Given the description of an element on the screen output the (x, y) to click on. 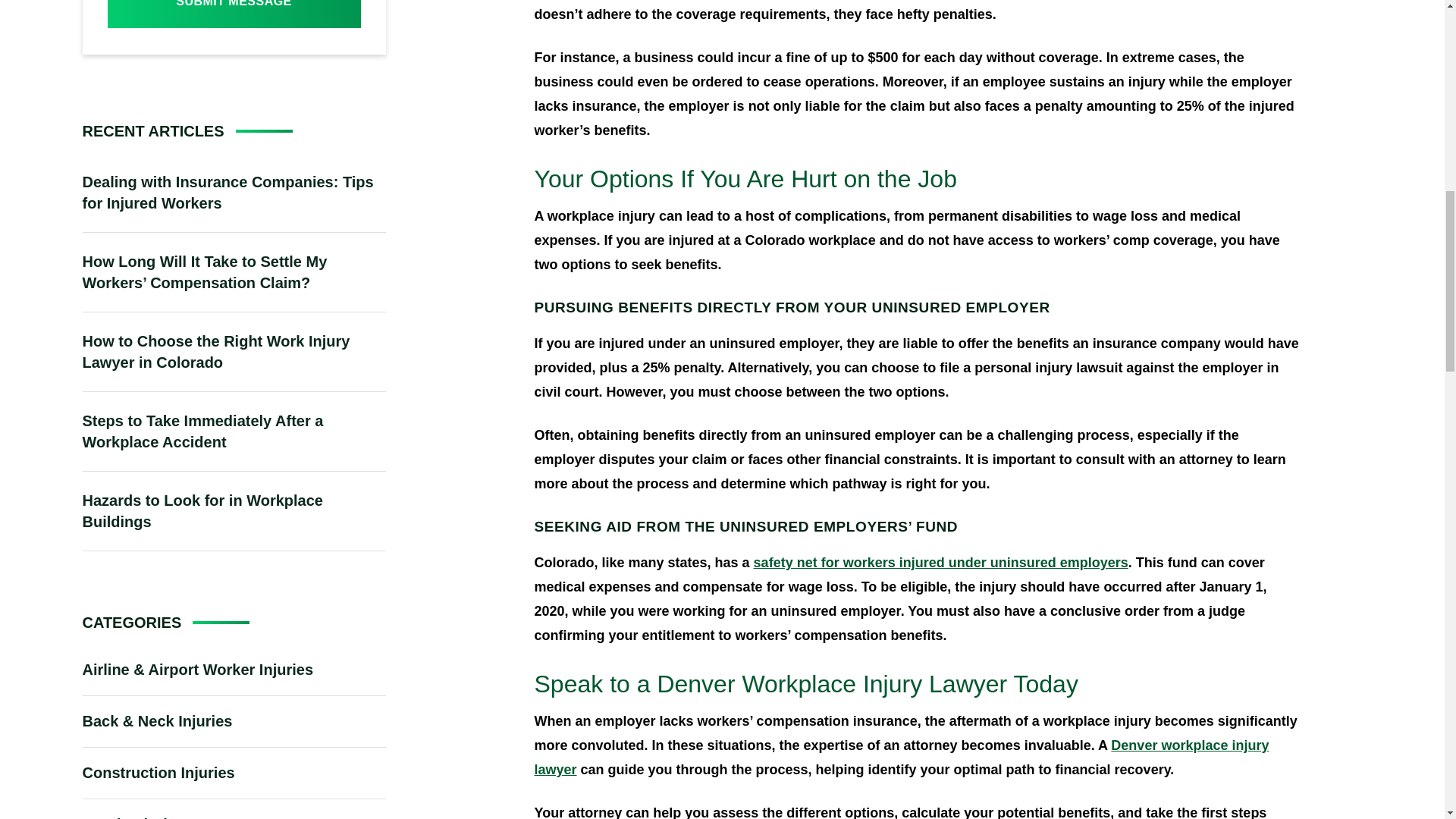
Denver workplace injury lawyer (901, 757)
SUBMIT MESSAGE (234, 13)
safety net for workers injured under uninsured employers (941, 562)
SUBMIT MESSAGE (234, 13)
How to Choose the Right Work Injury Lawyer in Colorado (233, 351)
Dealing with Insurance Companies: Tips for Injured Workers (233, 192)
